Given the description of an element on the screen output the (x, y) to click on. 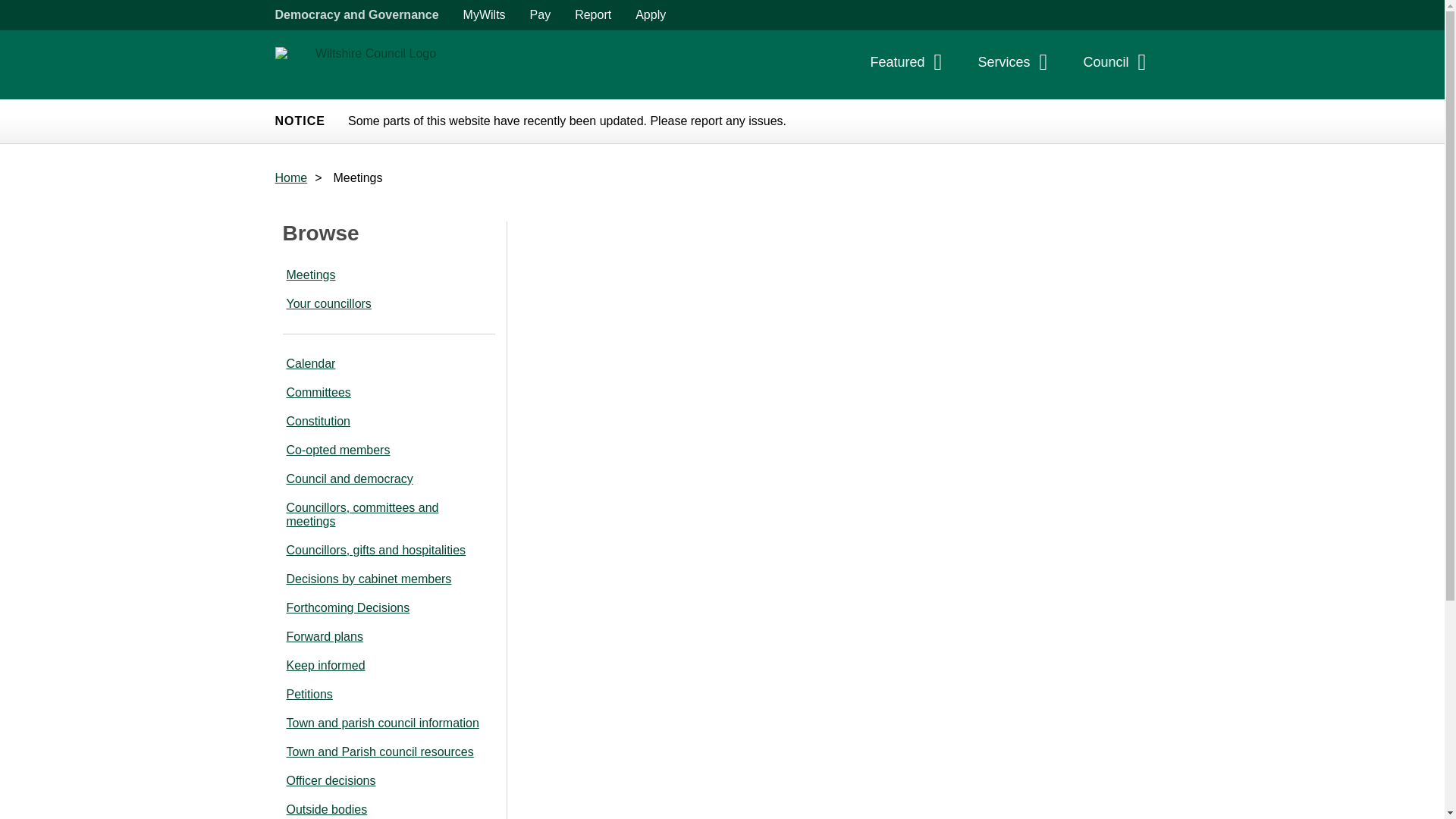
Apply (650, 15)
Report (592, 15)
Link to "Wiltshire Council" homepage (369, 64)
Pay (540, 15)
MyWilts (484, 15)
Featured (909, 66)
